Given the description of an element on the screen output the (x, y) to click on. 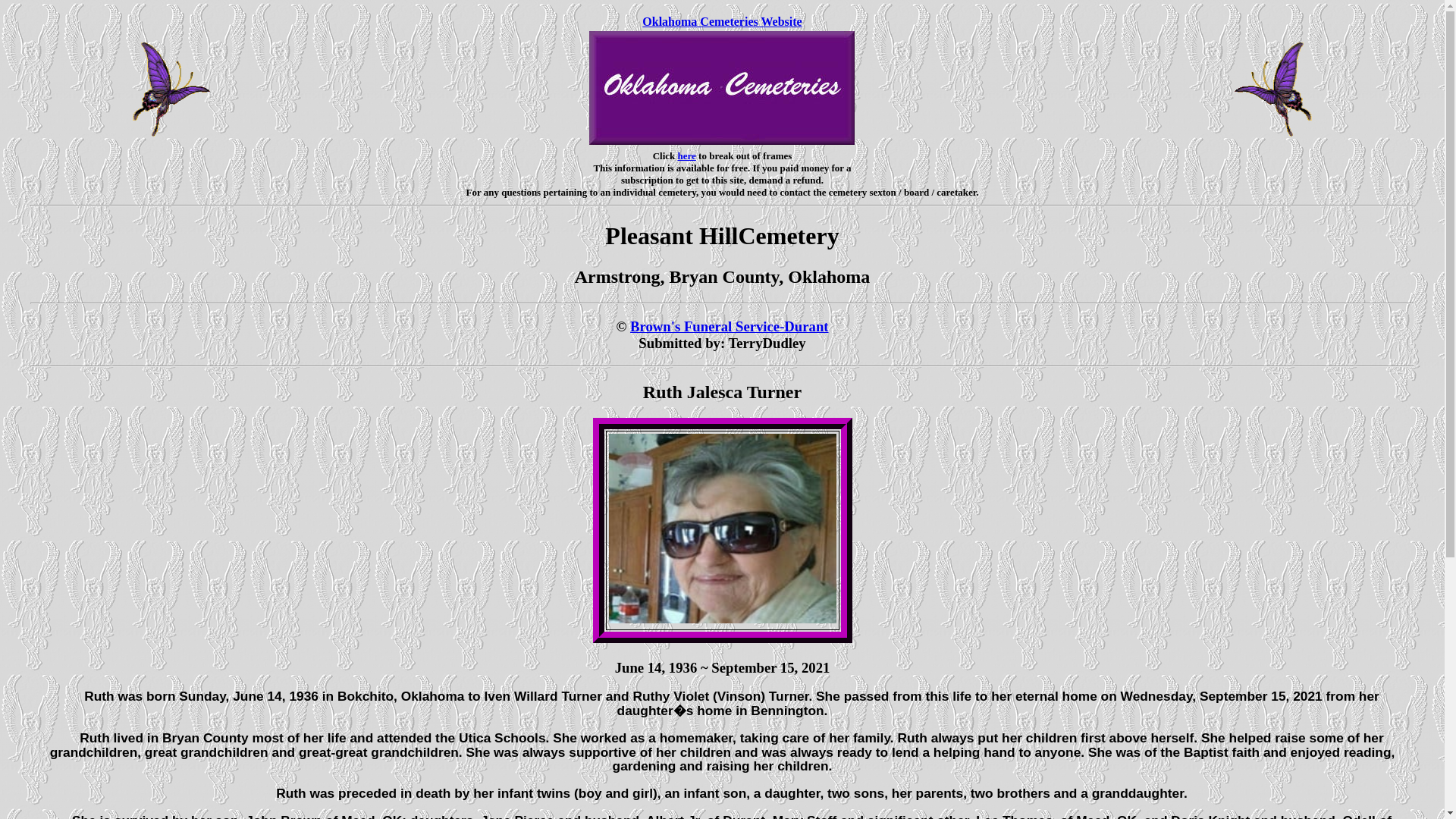
here (686, 155)
Brown's Funeral Service-Durant (729, 326)
Oklahoma Cemeteries Website (722, 21)
